Given the description of an element on the screen output the (x, y) to click on. 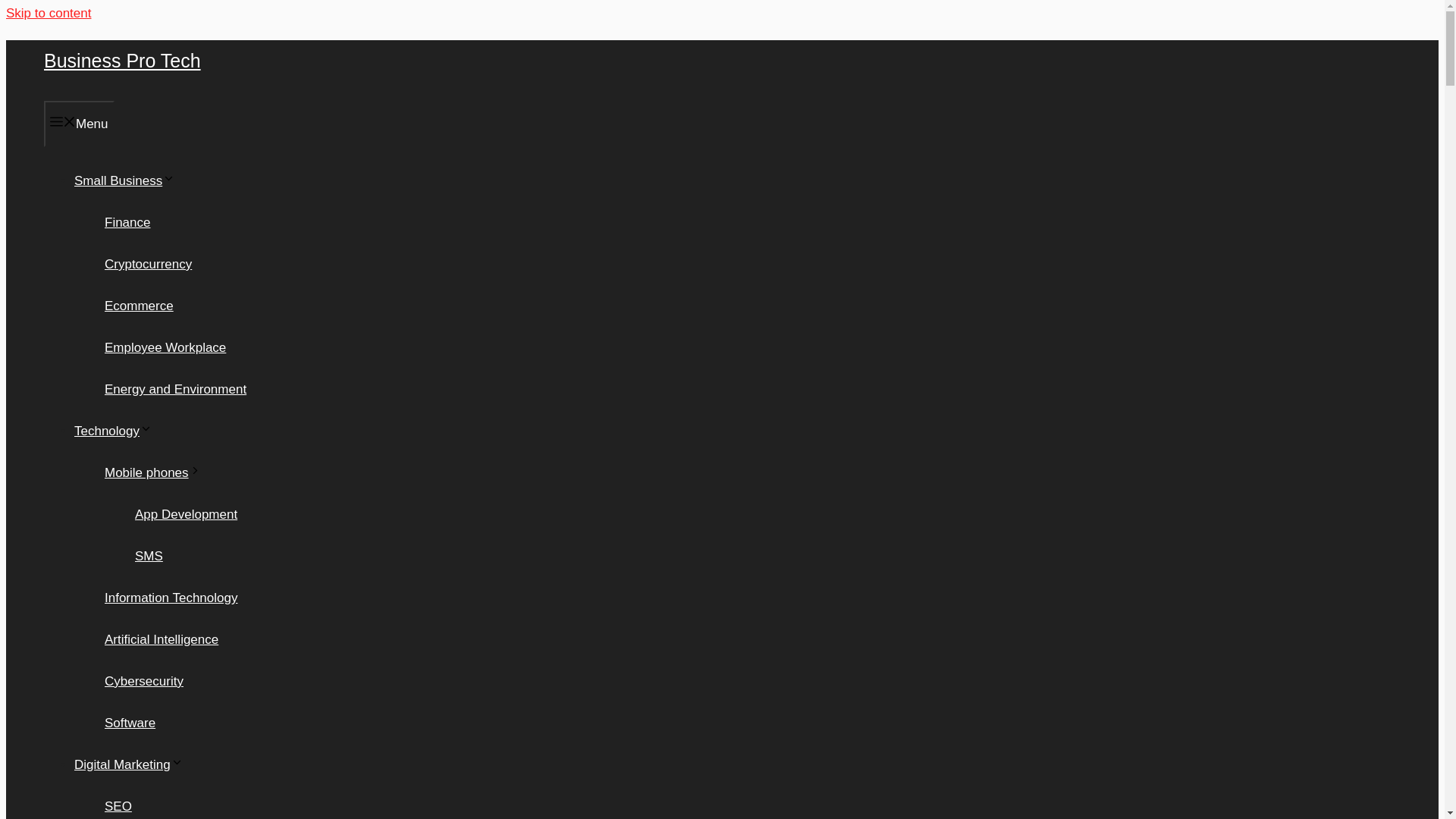
Skip to content (47, 12)
Artificial Intelligence (161, 639)
Skip to content (47, 12)
Finance (126, 222)
Information Technology (170, 597)
Cybersecurity (143, 681)
Employee Workplace (164, 347)
App Development (186, 513)
Software (129, 722)
Mobile phones (153, 472)
